Given the description of an element on the screen output the (x, y) to click on. 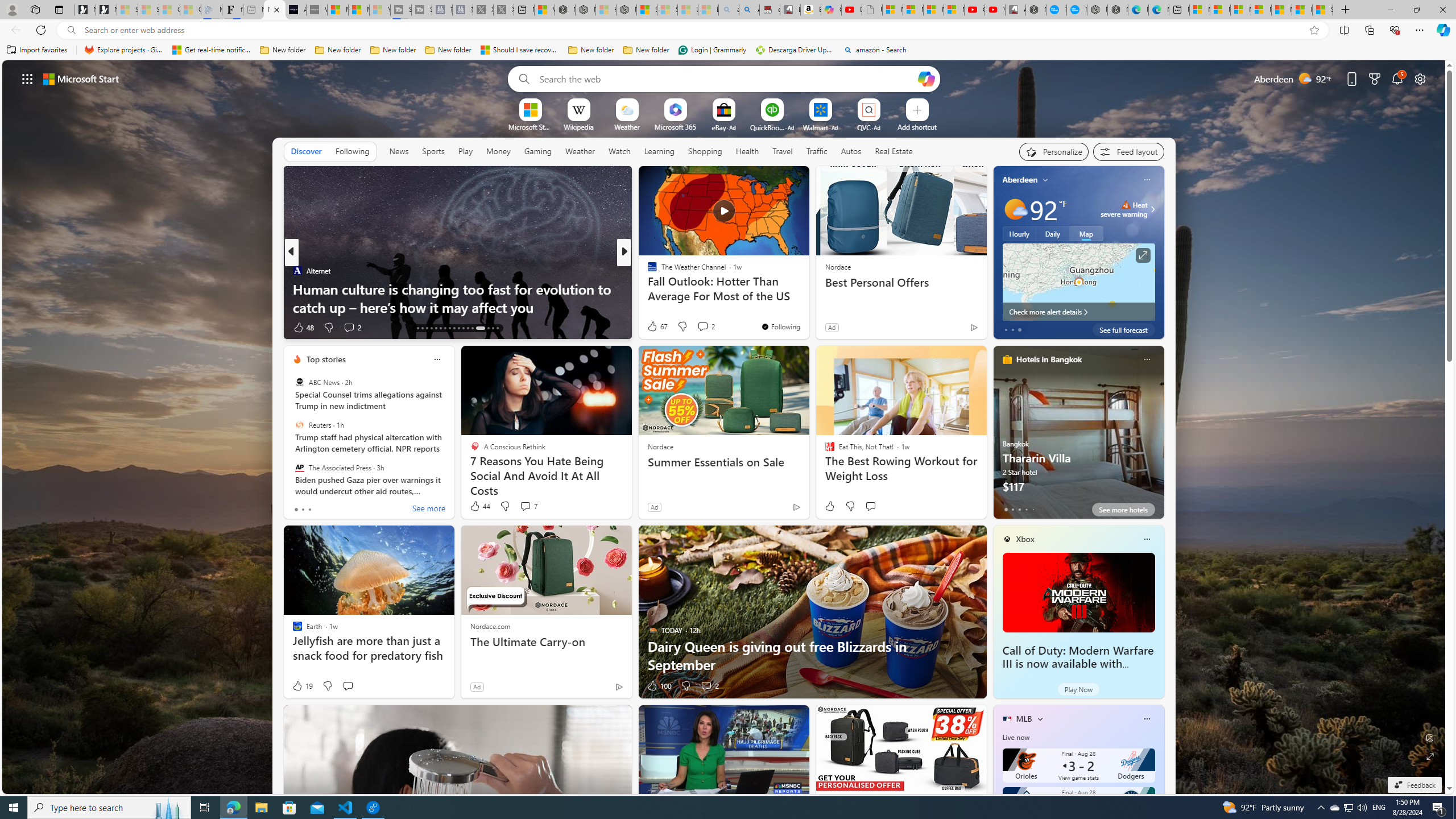
AutomationID: tab-26 (458, 328)
The Associated Press (299, 466)
See more (428, 509)
Health (746, 151)
ABC News (299, 382)
All Cubot phones (1015, 9)
Add a site (916, 126)
Untitled (871, 9)
Start the conversation (347, 685)
Daily (1052, 233)
Day 1: Arriving in Yemen (surreal to be here) - YouTube (851, 9)
Enter your search term (726, 78)
67 Like (657, 326)
